Given the description of an element on the screen output the (x, y) to click on. 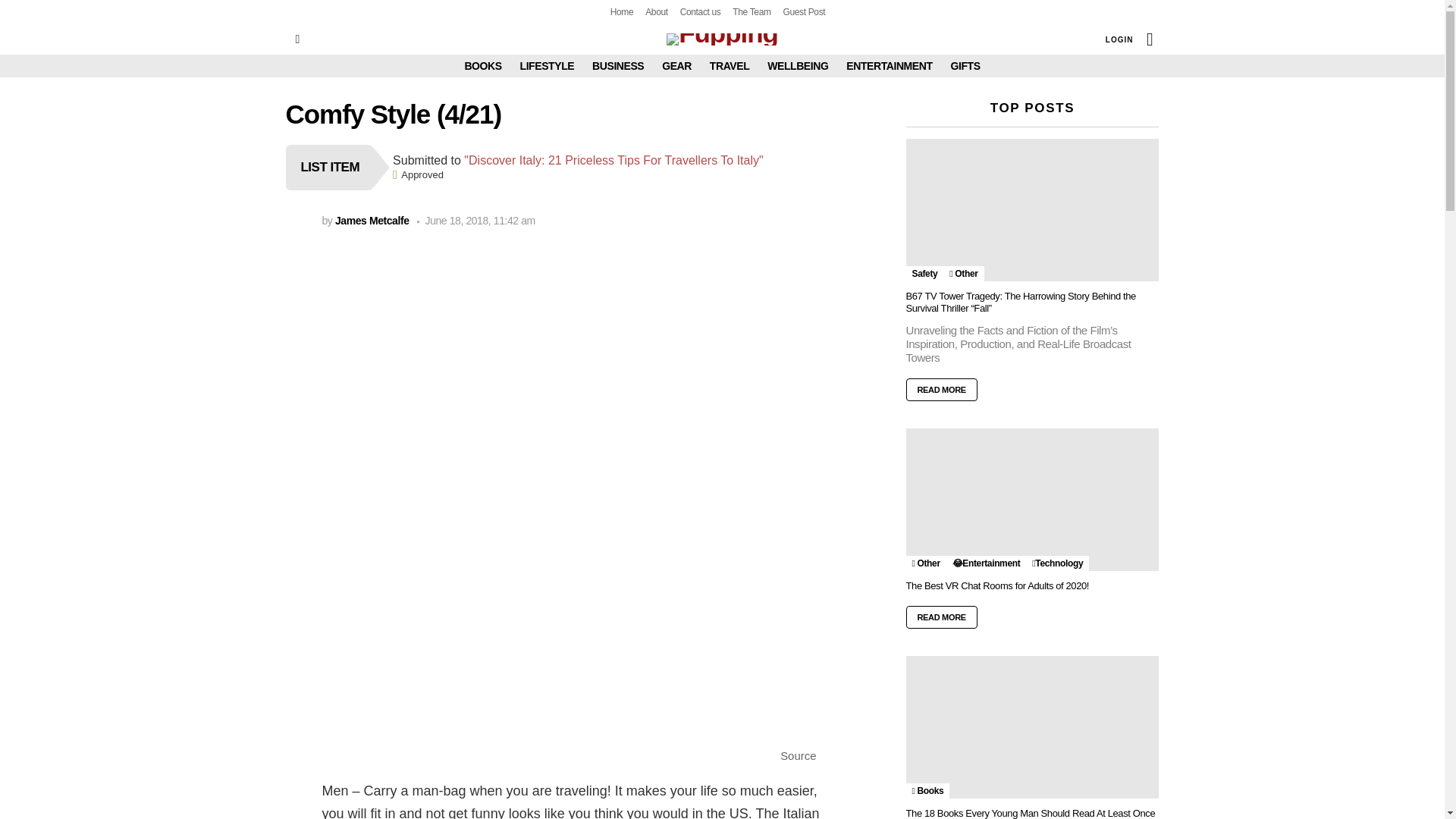
The Best VR Chat Rooms for Adults of 2020! (1031, 499)
Home (621, 12)
Menu (296, 39)
ENTERTAINMENT (888, 65)
Source (797, 755)
Posts by James Metcalfe (371, 220)
GEAR (675, 65)
Contact us (699, 12)
LIFESTYLE (547, 65)
BOOKS (482, 65)
